Given the description of an element on the screen output the (x, y) to click on. 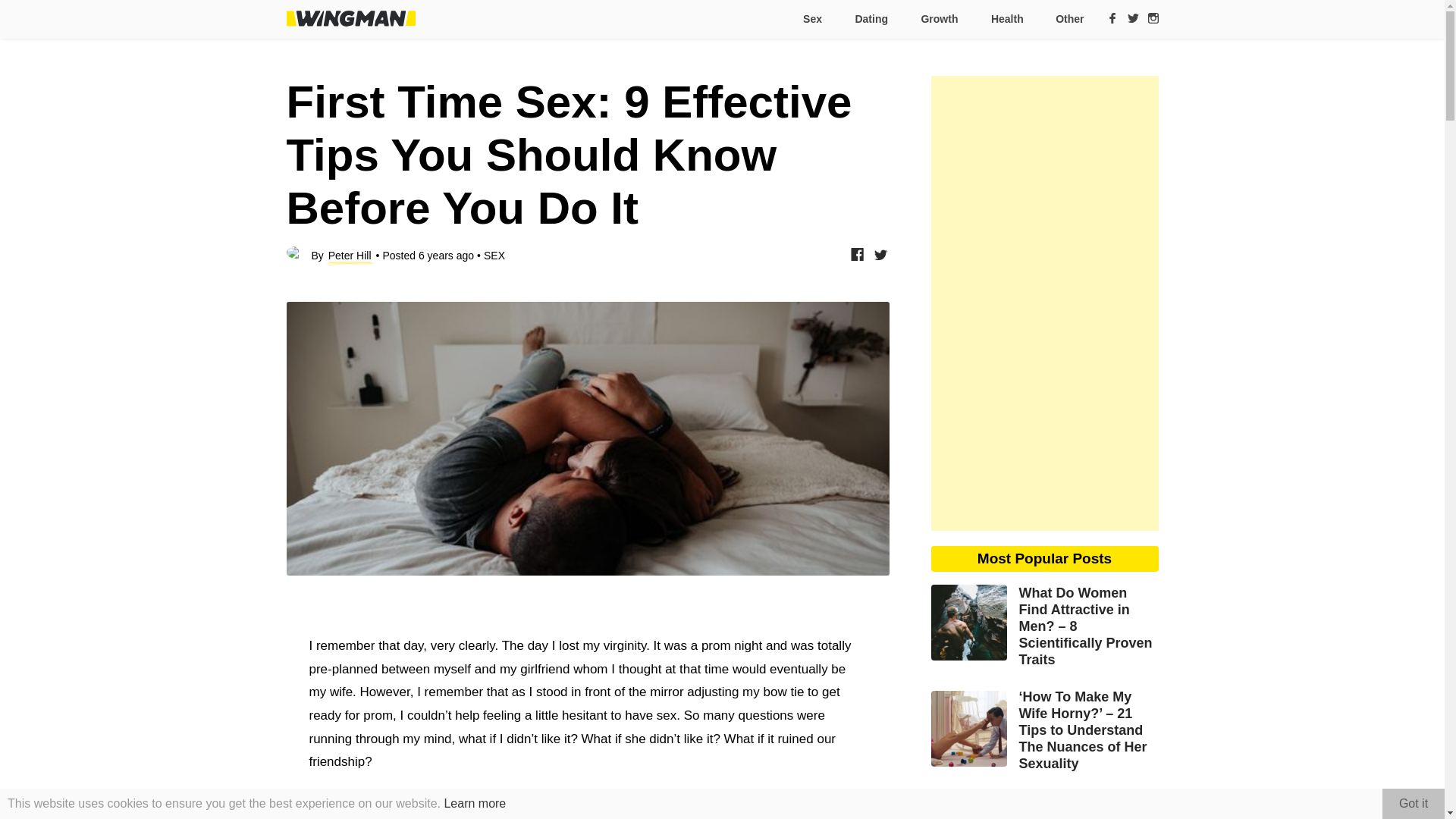
Learn more (474, 802)
How to Make A Woman Orgasm In Under 5 Minutes (1044, 805)
Other (1063, 19)
Growth (938, 19)
Health (1005, 19)
Dating (870, 19)
Sex (810, 19)
Wingman Magazine (350, 18)
